Given the description of an element on the screen output the (x, y) to click on. 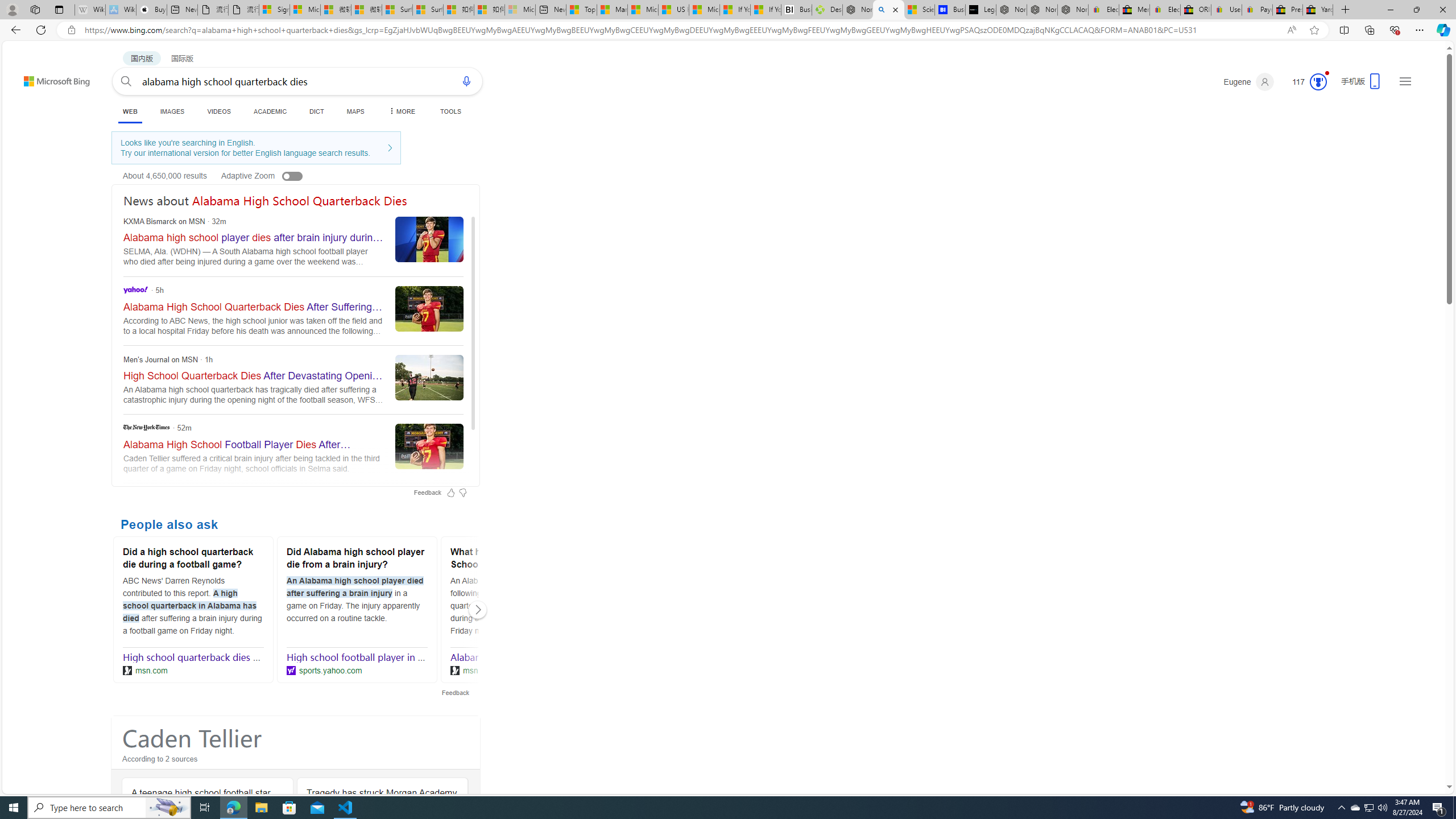
Feedback Like (450, 492)
The New York Times (293, 448)
